Given the description of an element on the screen output the (x, y) to click on. 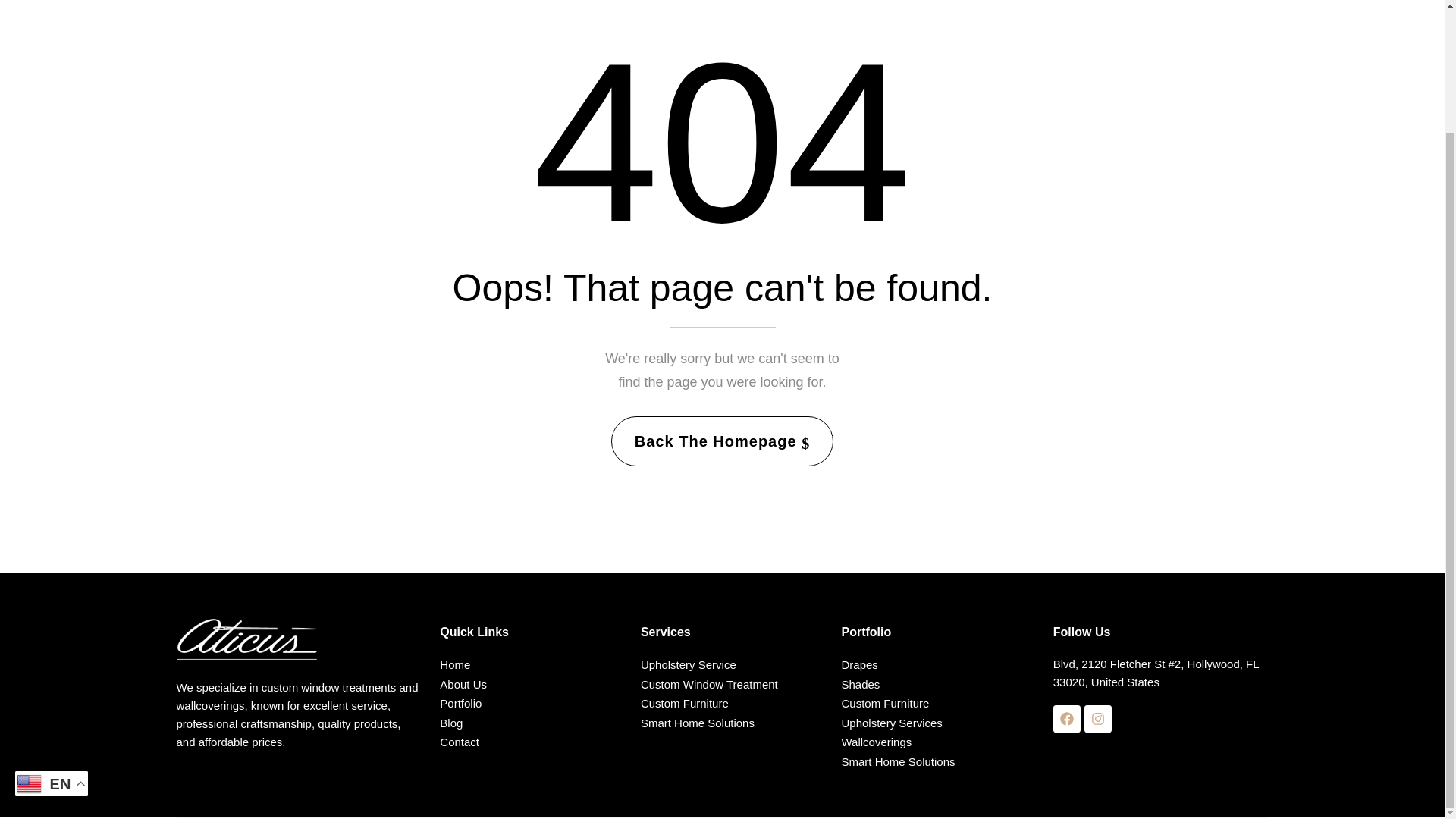
Shades (937, 684)
Smart Home Solutions (731, 723)
Upholstery Services (937, 723)
Custom Furniture (937, 703)
Upholstery Service (731, 664)
Custom Furniture (731, 703)
Back The Homepage (721, 441)
Drapes (937, 664)
Home (530, 664)
Contact (530, 742)
